Given the description of an element on the screen output the (x, y) to click on. 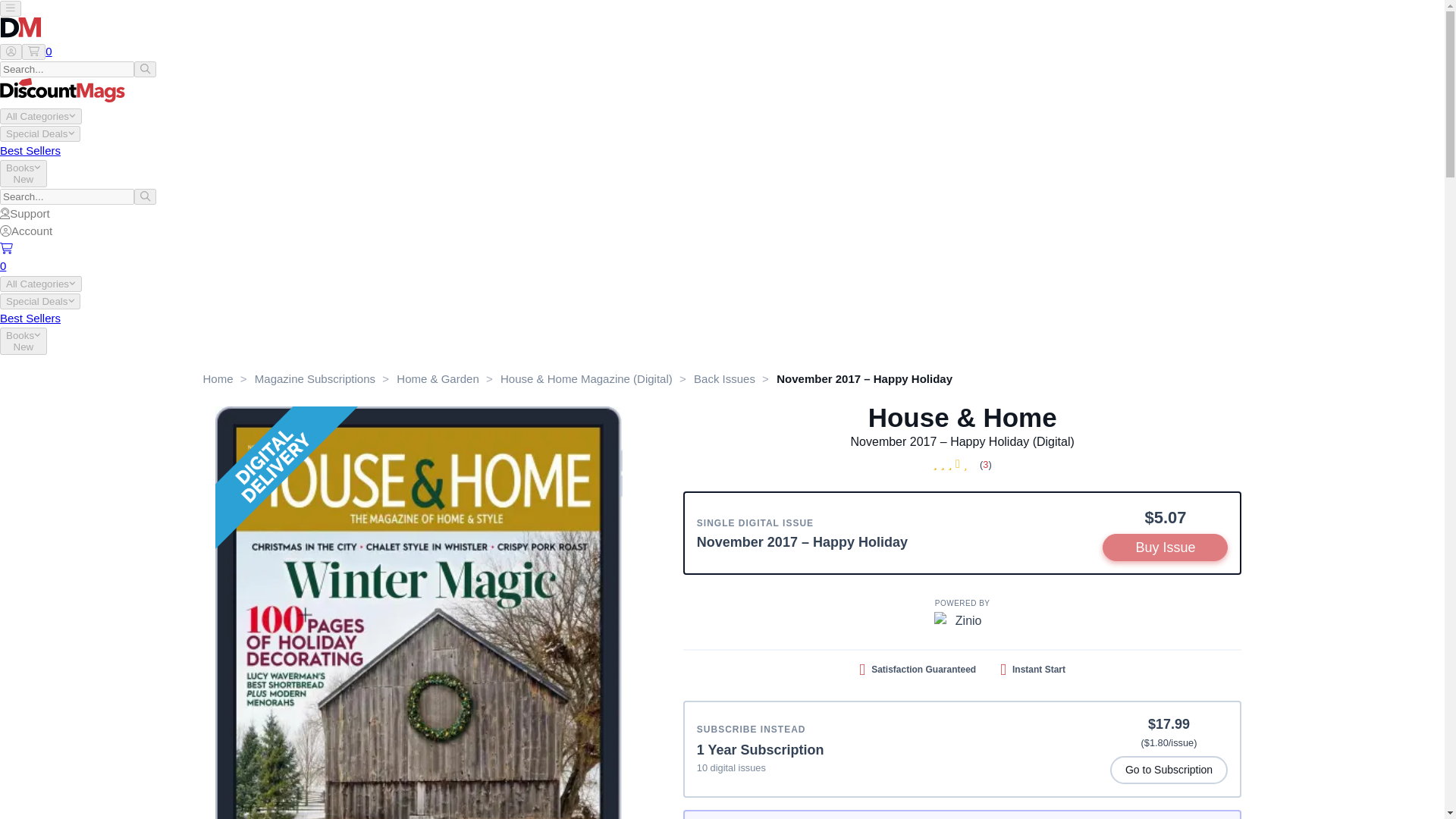
Magazine Subscriptions (314, 378)
Back Issues (724, 378)
Home (217, 378)
Go to Subscription (1168, 769)
Buy Issue (1164, 547)
